Given the description of an element on the screen output the (x, y) to click on. 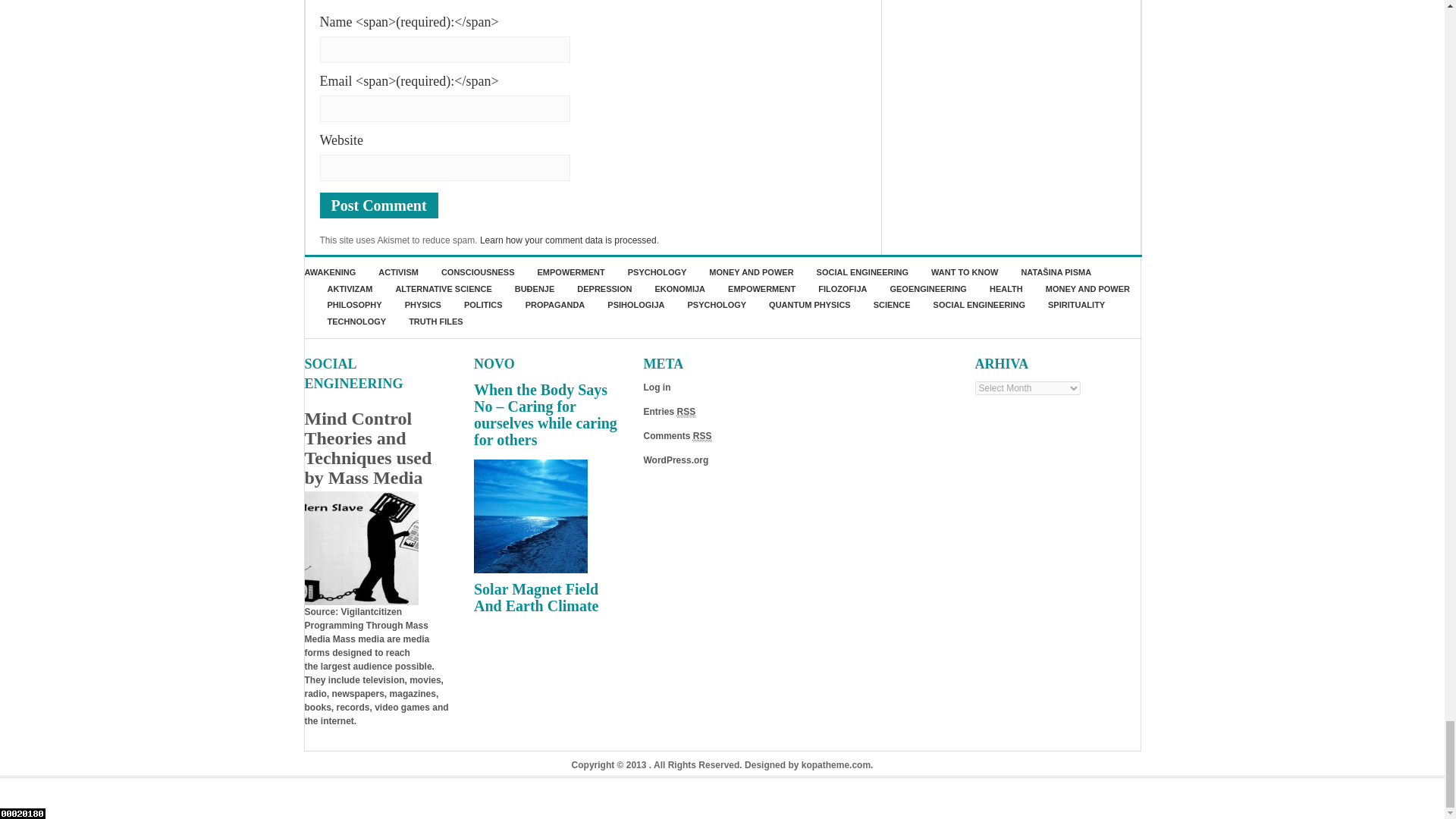
Post Comment (379, 205)
